Given the description of an element on the screen output the (x, y) to click on. 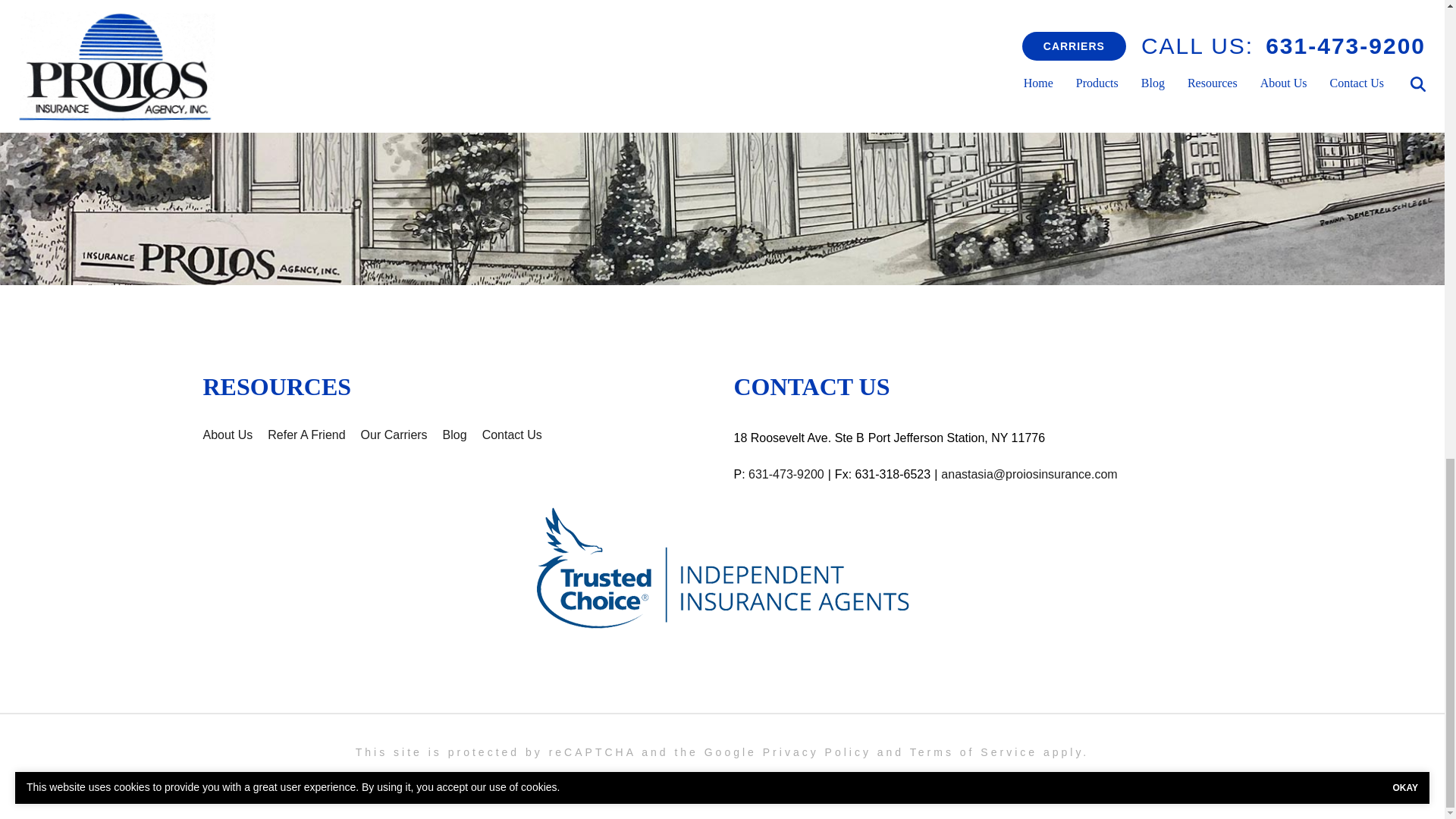
Insurance Website Builder (880, 779)
